Given the description of an element on the screen output the (x, y) to click on. 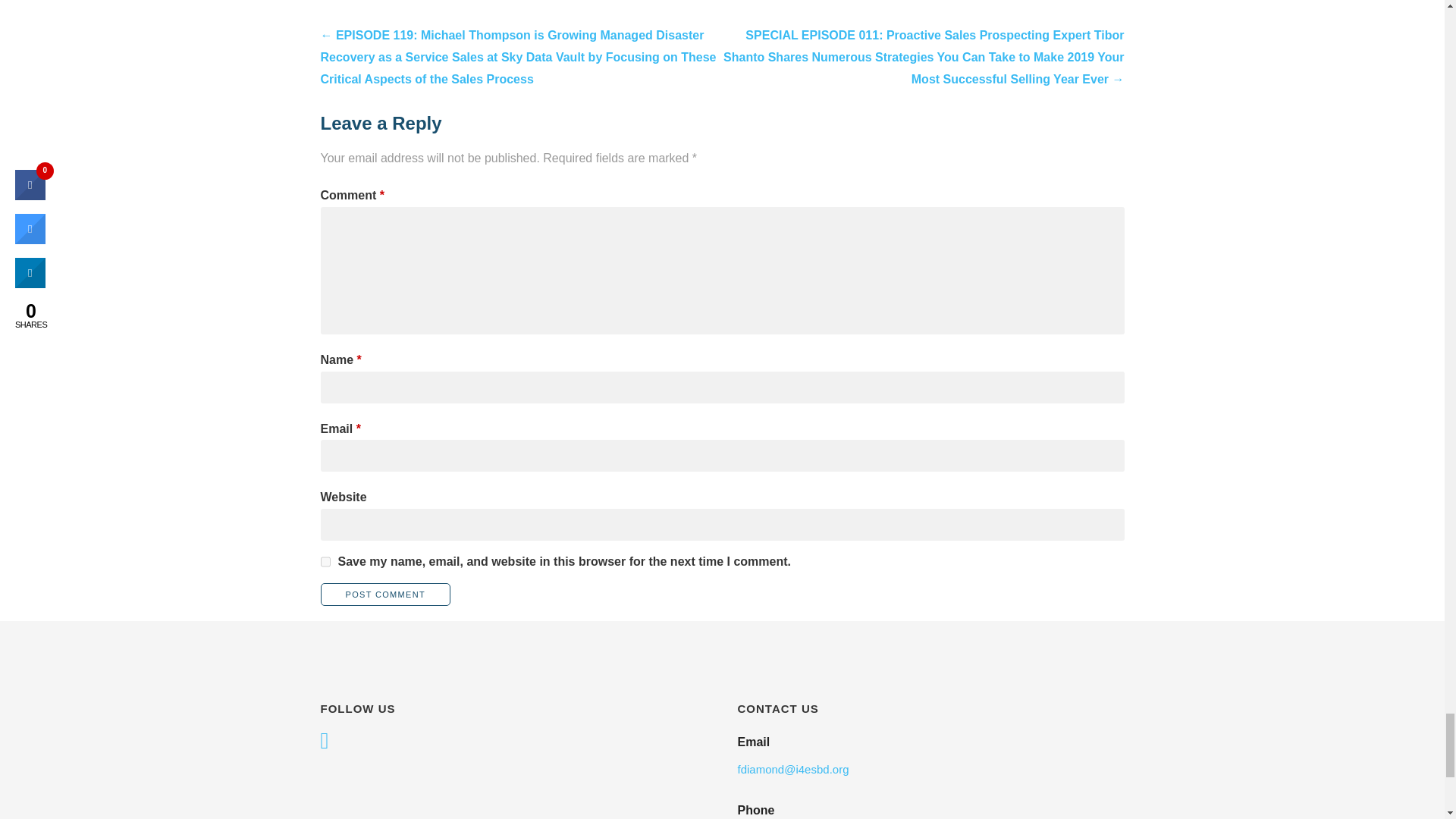
Post Comment (384, 594)
Post Comment (384, 594)
